Given the description of an element on the screen output the (x, y) to click on. 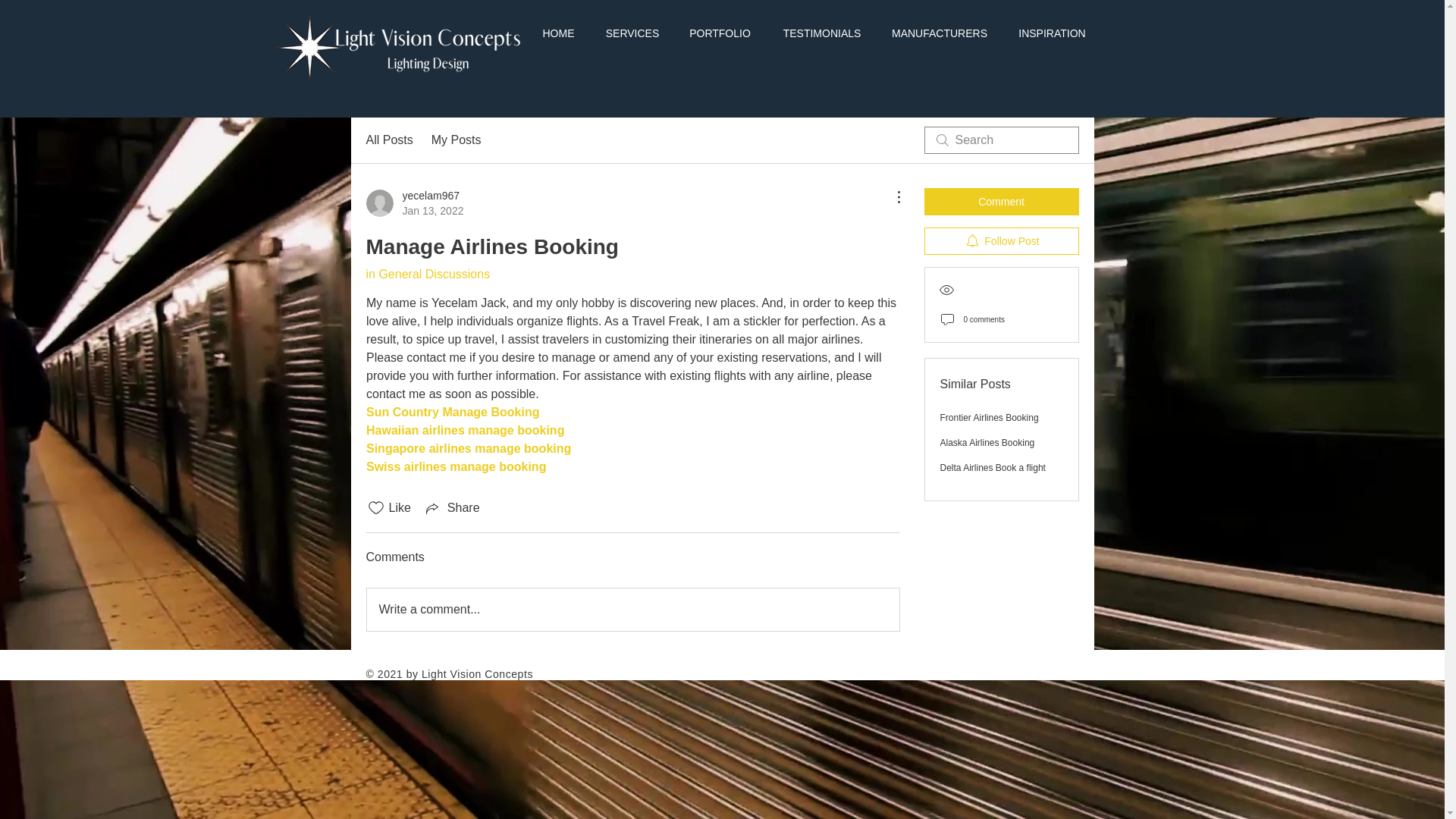
Swiss airlines manage booking (454, 466)
All Posts (388, 140)
Delta Airlines Book a flight (992, 467)
in General Discussions (427, 273)
Write a comment... (632, 609)
Hawaiian airlines manage booking (464, 430)
INSPIRATION (1052, 33)
My Posts (455, 140)
Alaska Airlines Booking (987, 442)
Copy of Copy of Light Vision Concepts Lo (402, 45)
